Given the description of an element on the screen output the (x, y) to click on. 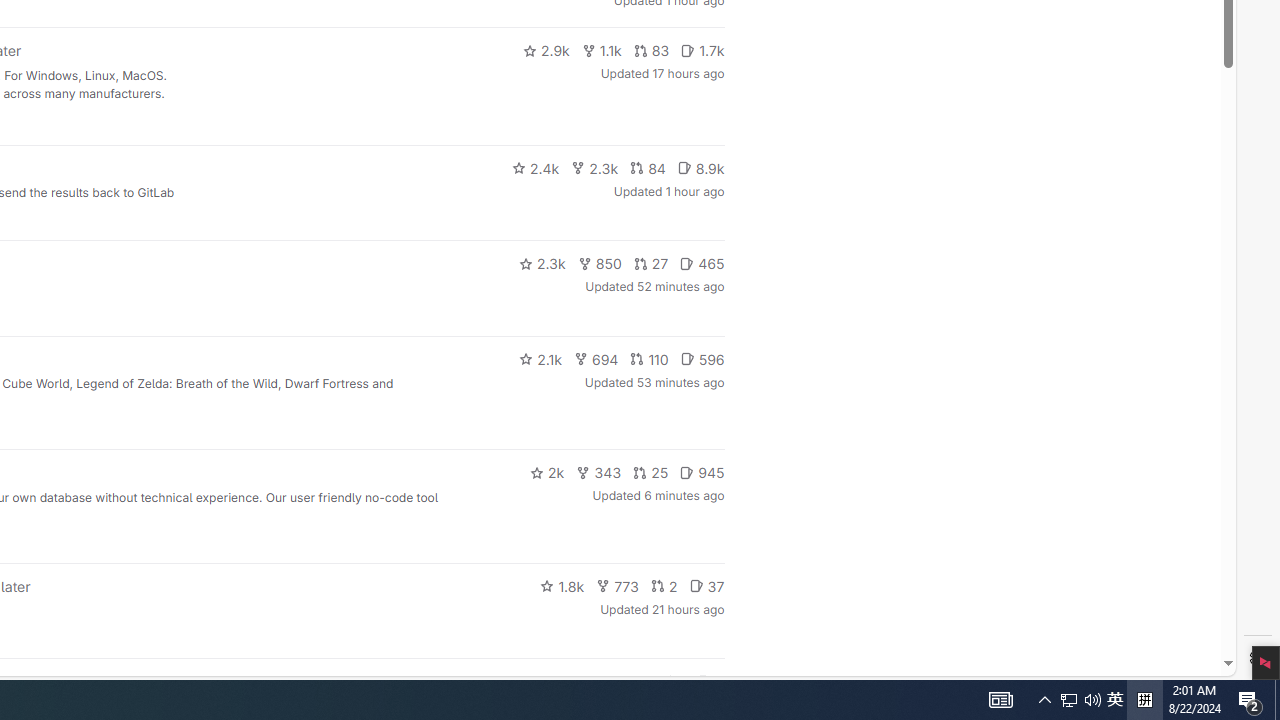
343 (599, 472)
27 (651, 263)
143 (629, 681)
773 (618, 585)
850 (599, 263)
Class: s14 gl-mr-2 (704, 681)
1.1k (601, 50)
596 (701, 358)
2.1k (539, 358)
2.3k (541, 263)
6 (710, 681)
1.7k (702, 50)
8.9k (700, 167)
